Given the description of an element on the screen output the (x, y) to click on. 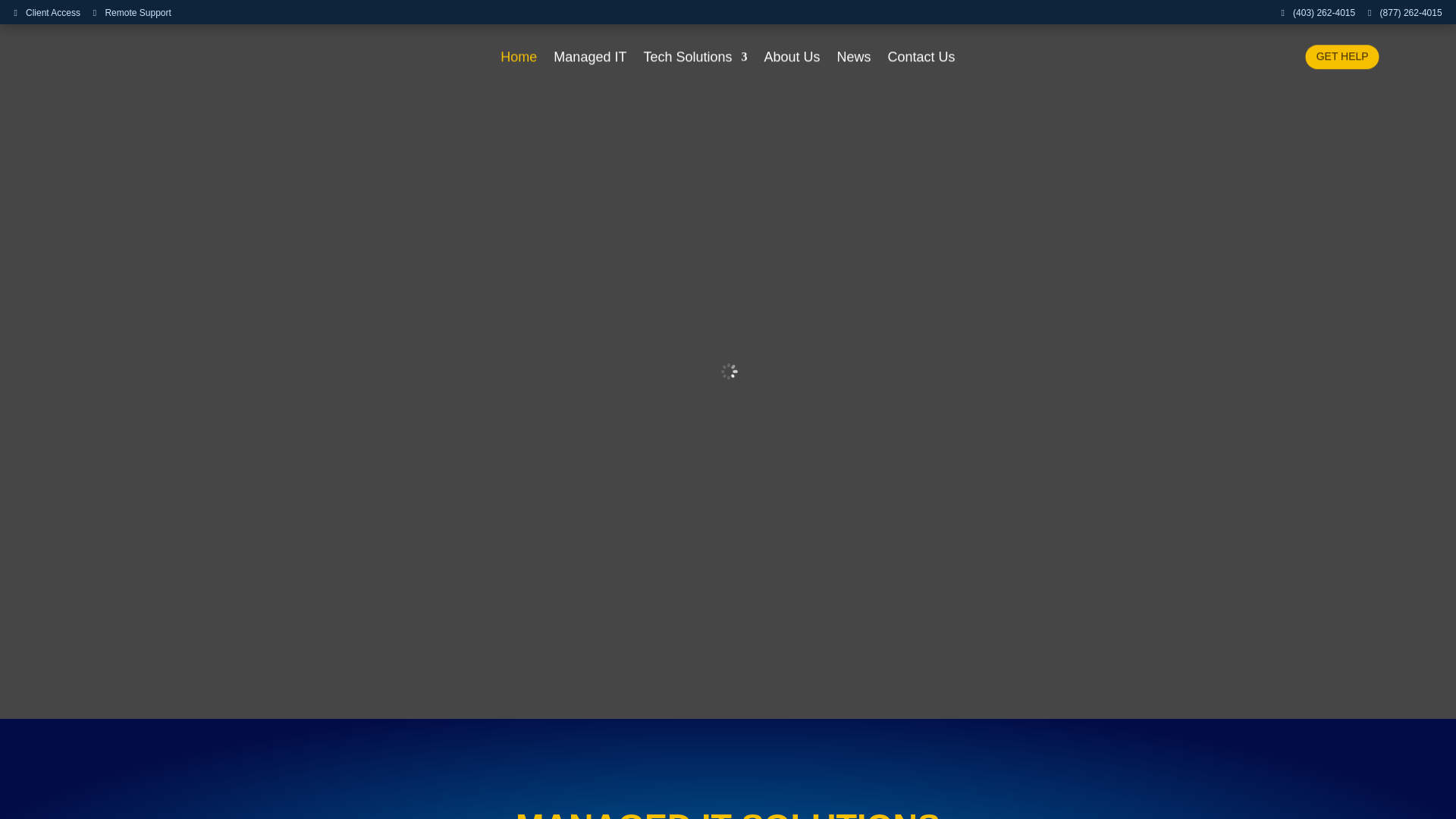
Managed IT (589, 59)
Tech Solutions (694, 59)
Remote Support (131, 12)
About Us (792, 59)
Home (518, 59)
GET HELP (1342, 56)
Client Access (46, 12)
Contact Us (921, 59)
News (853, 59)
